Given the description of an element on the screen output the (x, y) to click on. 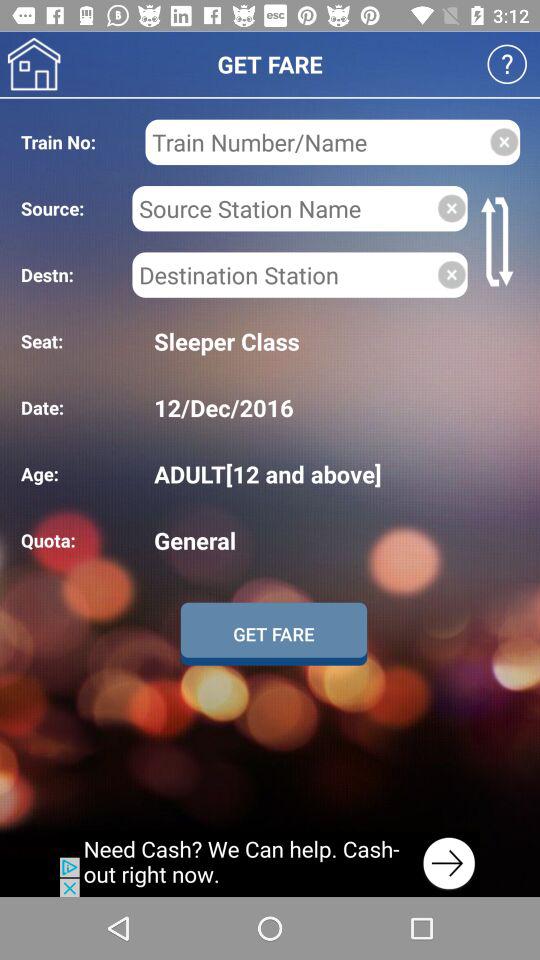
to enter source station name (284, 208)
